Given the description of an element on the screen output the (x, y) to click on. 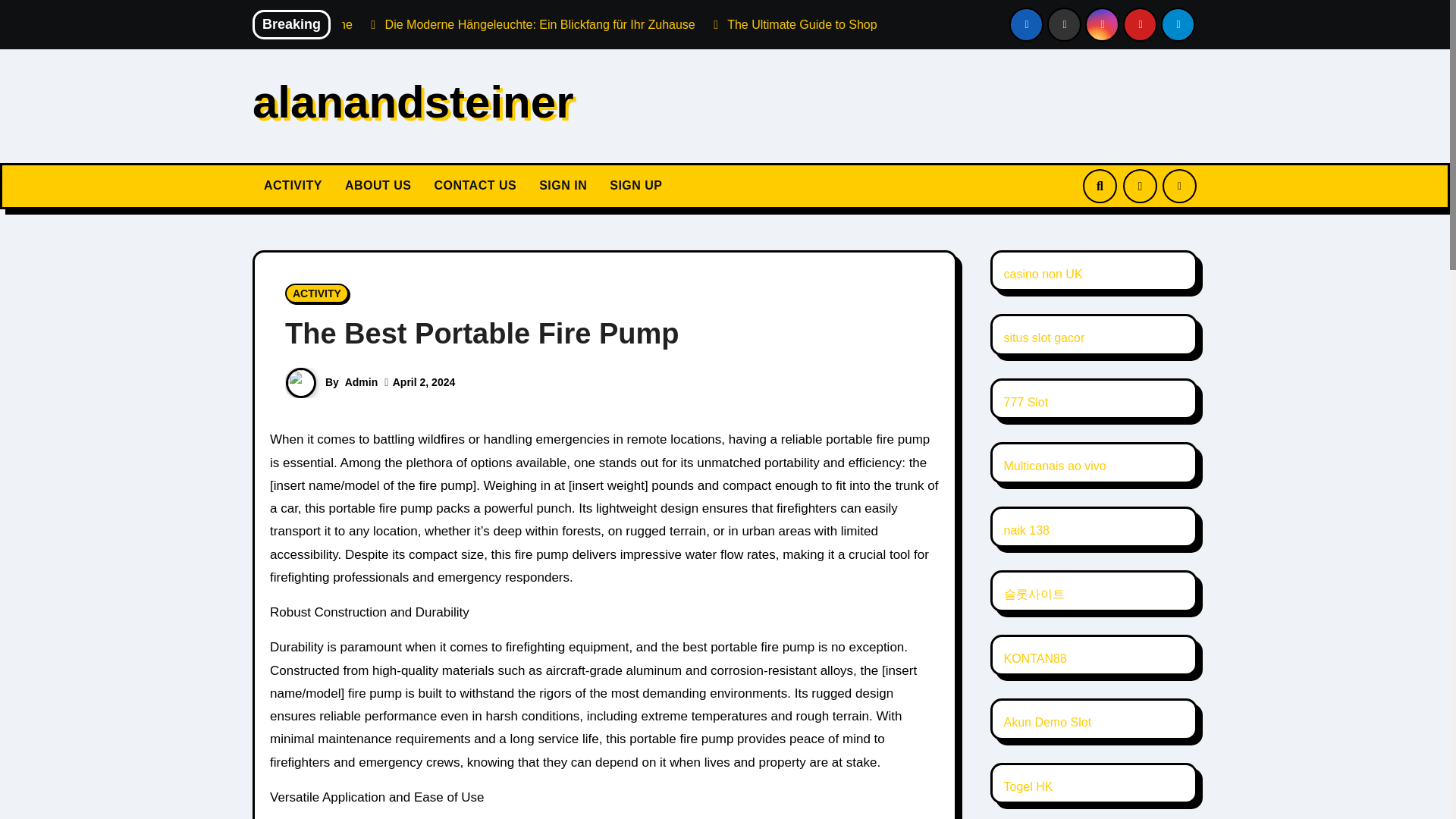
alanandsteiner (412, 101)
ACTIVITY (292, 186)
SIGN IN (562, 186)
SIGN IN (562, 186)
CONTACT US (474, 186)
ACTIVITY (317, 293)
April 2, 2024 (424, 381)
ACTIVITY (292, 186)
Admin (361, 381)
SIGN UP (635, 186)
CONTACT US (474, 186)
ABOUT US (378, 186)
The Ultimate Guide to Buying Prescription Glasses Online (419, 24)
ABOUT US (378, 186)
SIGN UP (635, 186)
